Given the description of an element on the screen output the (x, y) to click on. 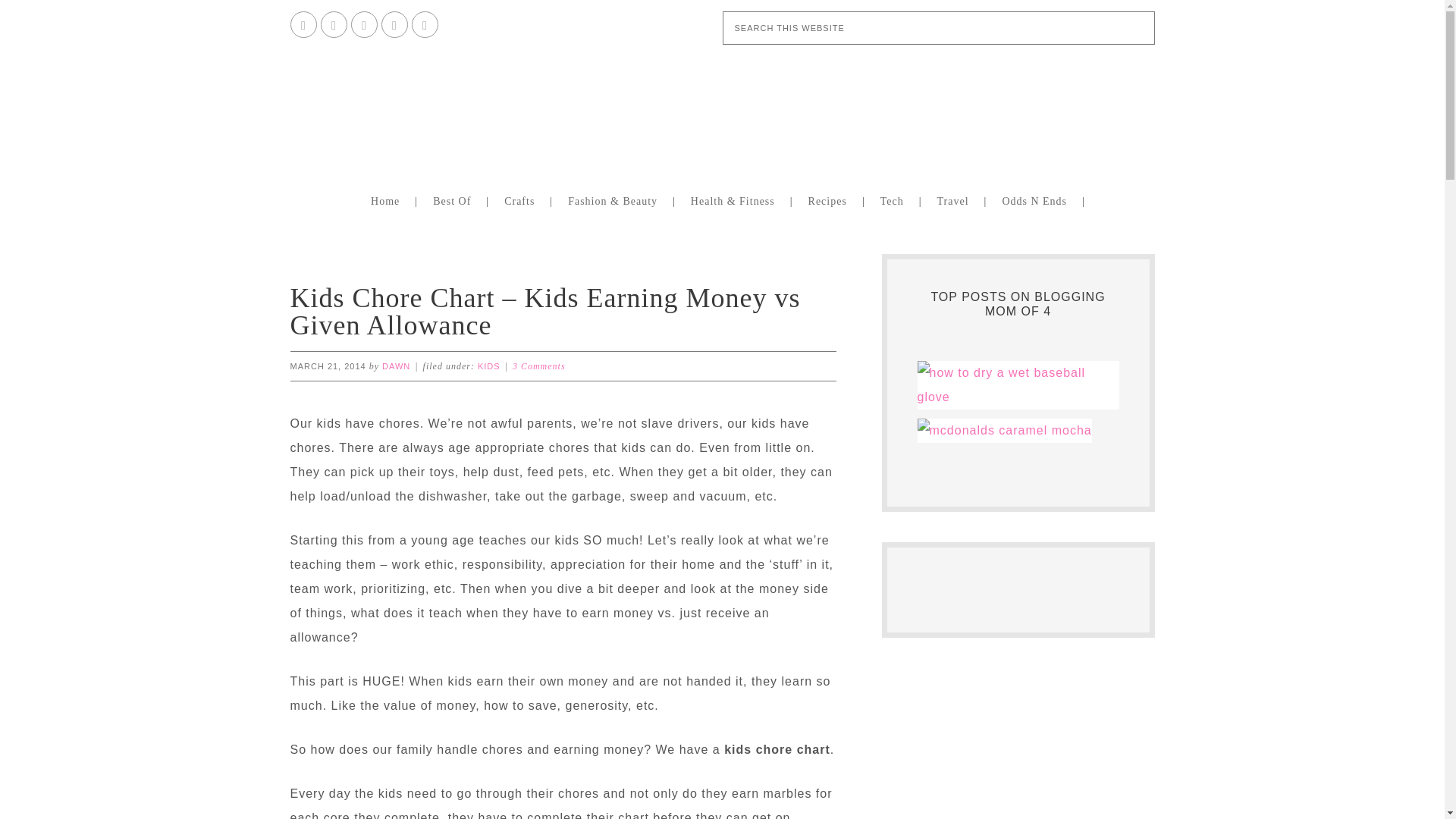
Best Of (455, 200)
Tech (895, 200)
Recipes (830, 200)
Travel (956, 200)
Crafts (523, 200)
3 Comments (539, 366)
Blogging Mom of 4 (721, 109)
DAWN (395, 366)
